Given the description of an element on the screen output the (x, y) to click on. 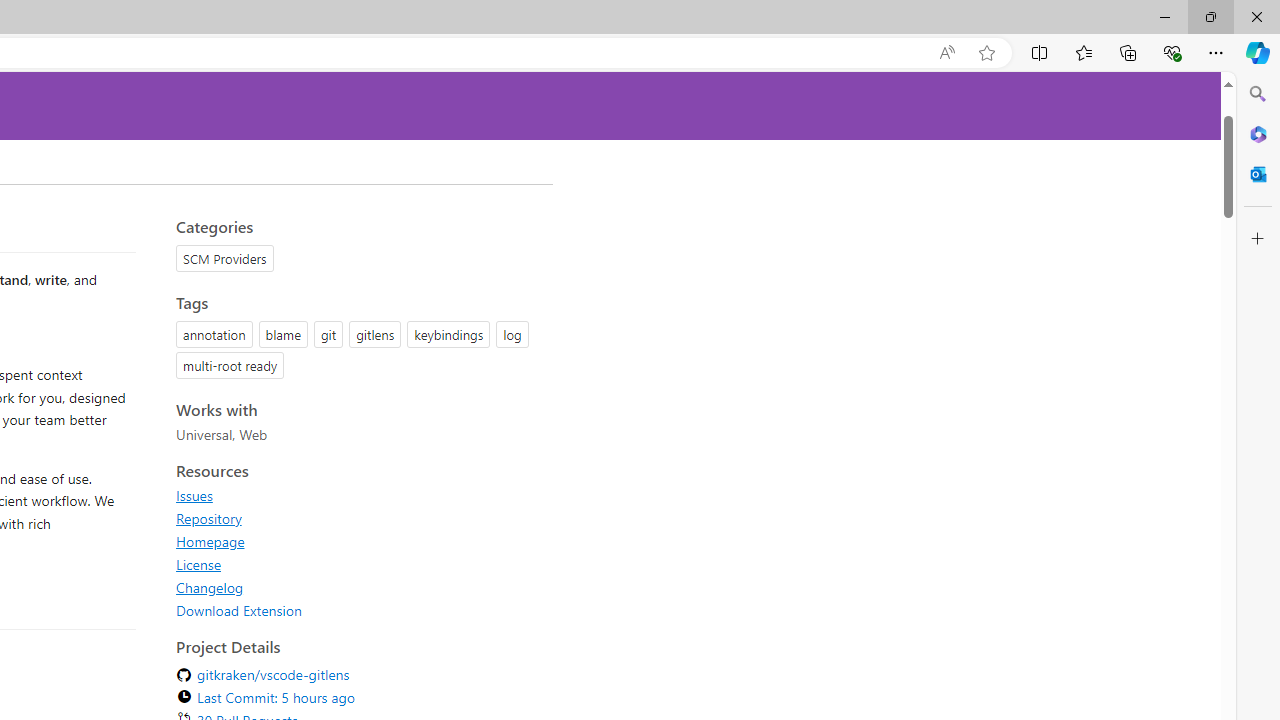
Repository (208, 518)
Download Extension (358, 610)
Issues (358, 495)
License (198, 564)
Issues (194, 495)
Outlook (1258, 174)
Homepage (358, 541)
Changelog (358, 587)
